Given the description of an element on the screen output the (x, y) to click on. 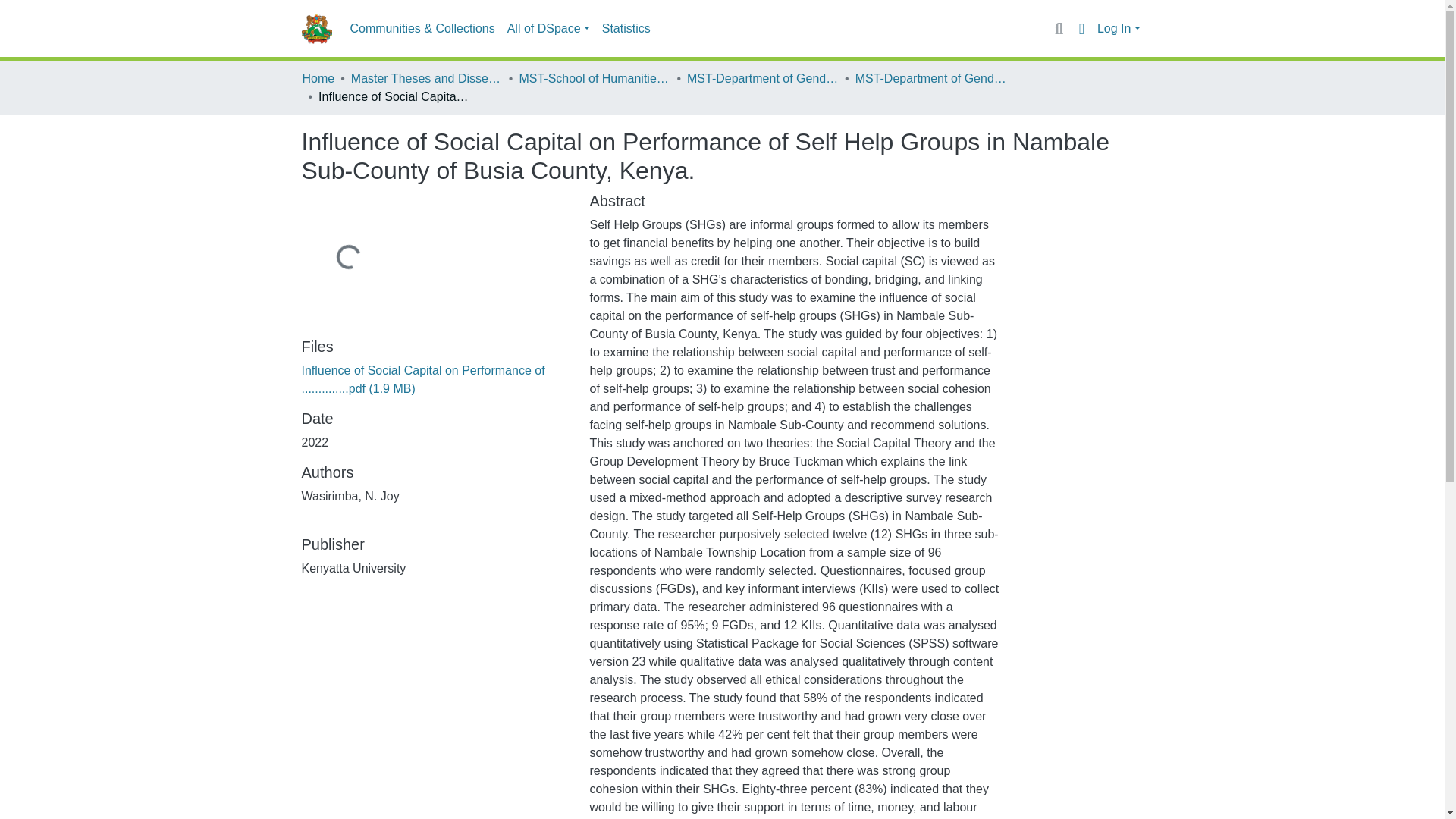
MST-Department of Gender and Development Studies (762, 78)
Language switch (1081, 28)
Search (1058, 28)
MST-School of Humanities and Social Sciences (593, 78)
Statistics (625, 28)
Statistics (625, 28)
All of DSpace (547, 28)
MST-Department of Gender and Development Studies (931, 78)
Log In (1118, 28)
Home (317, 78)
